Given the description of an element on the screen output the (x, y) to click on. 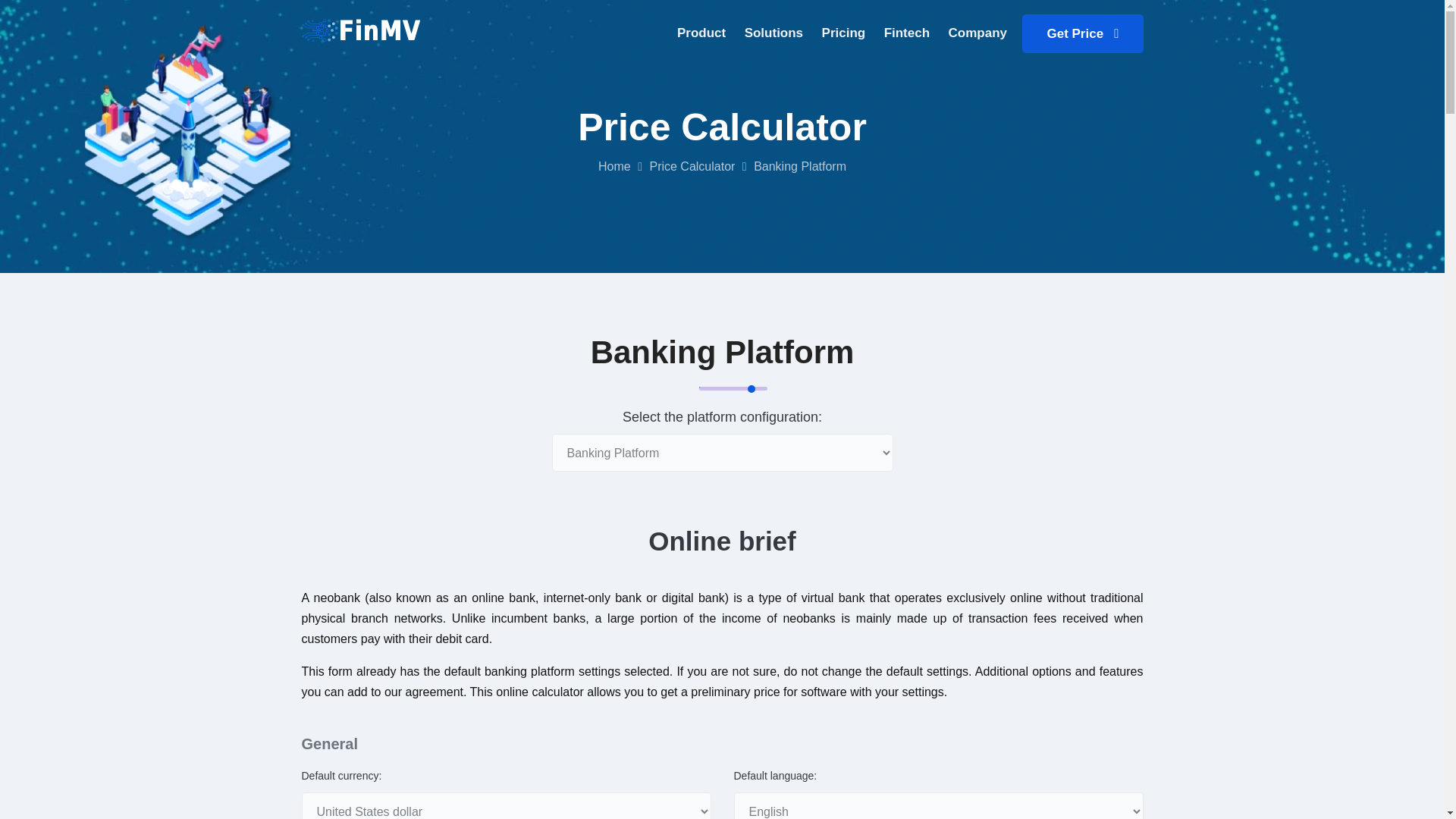
Fintech (906, 32)
Pricing (844, 32)
techno (360, 29)
Product (838, 33)
Solutions (701, 32)
Get Price   (773, 32)
Company (1082, 33)
